Given the description of an element on the screen output the (x, y) to click on. 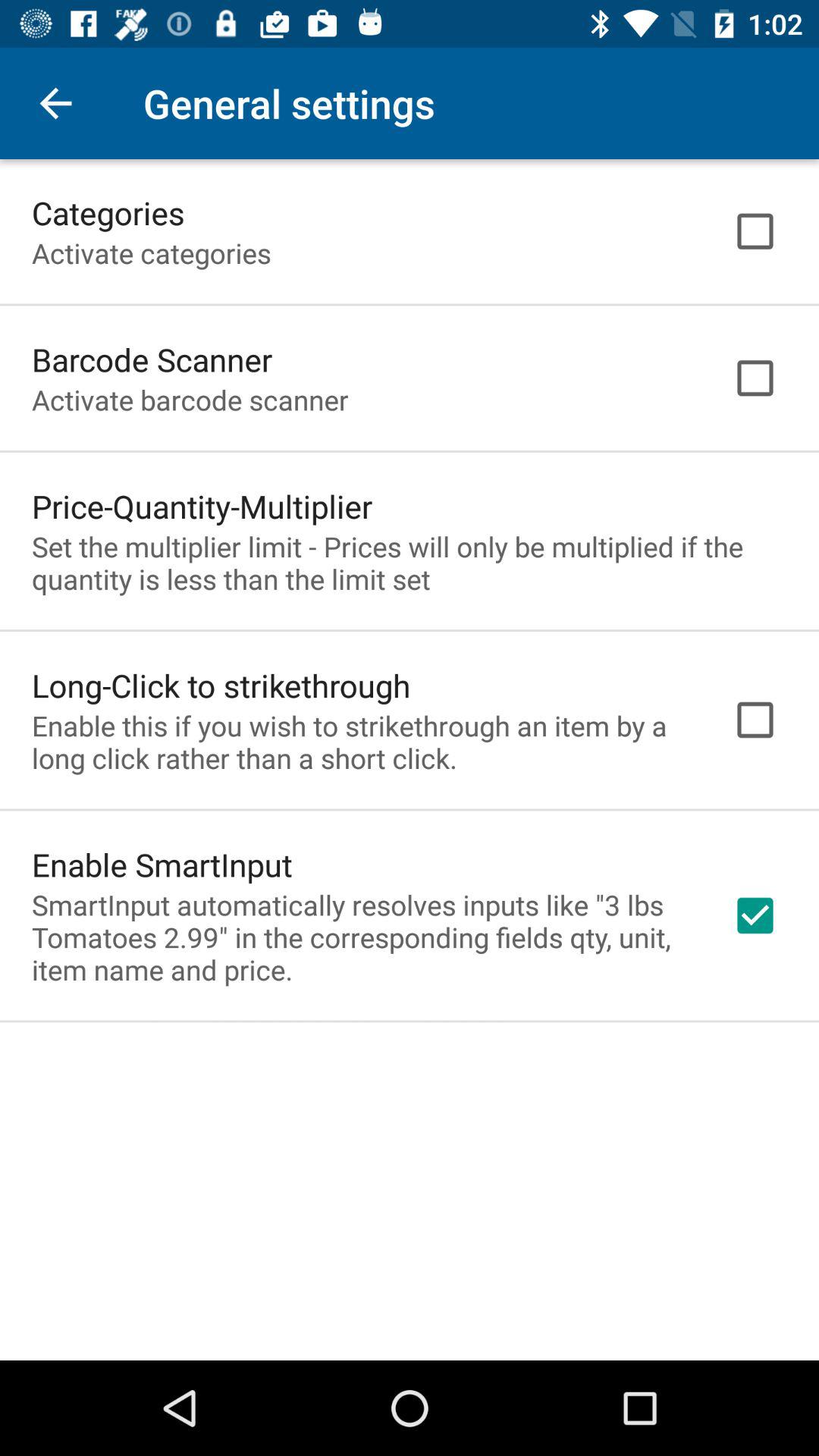
scroll to set the multiplier item (409, 562)
